Given the description of an element on the screen output the (x, y) to click on. 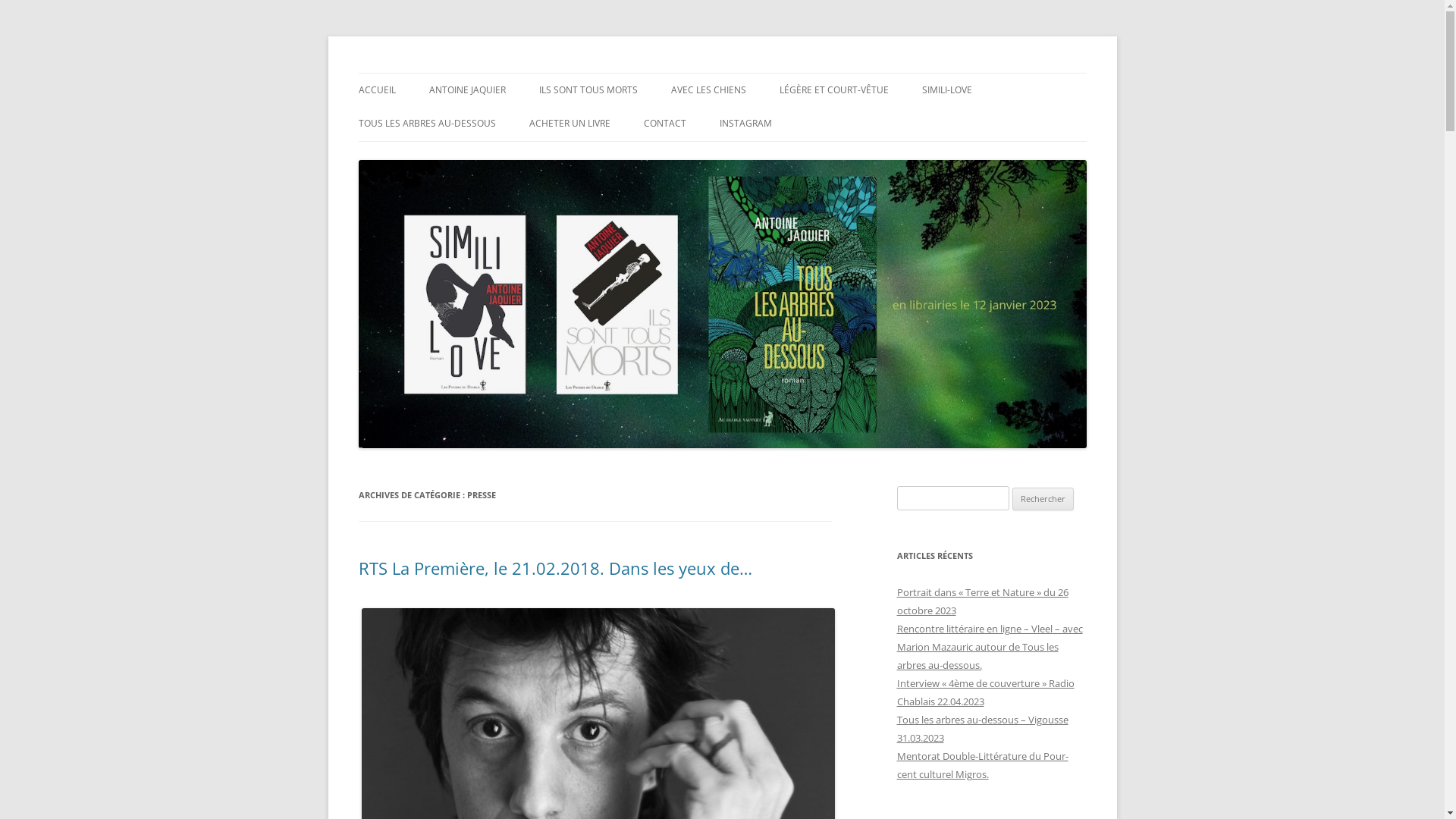
Aller au contenu Element type: text (721, 72)
Antoine Jaquier Element type: text (434, 72)
Rechercher Element type: text (1042, 498)
SIMILI-LOVE Element type: text (947, 89)
ACCUEIL Element type: text (376, 89)
TOUS LES ARBRES AU-DESSOUS Element type: text (426, 123)
CONTACT Element type: text (664, 123)
INSTAGRAM Element type: text (744, 123)
ACHETER UN LIVRE Element type: text (569, 123)
ANTOINE JAQUIER Element type: text (467, 89)
ILS SONT TOUS MORTS Element type: text (587, 89)
AVEC LES CHIENS Element type: text (707, 89)
